Given the description of an element on the screen output the (x, y) to click on. 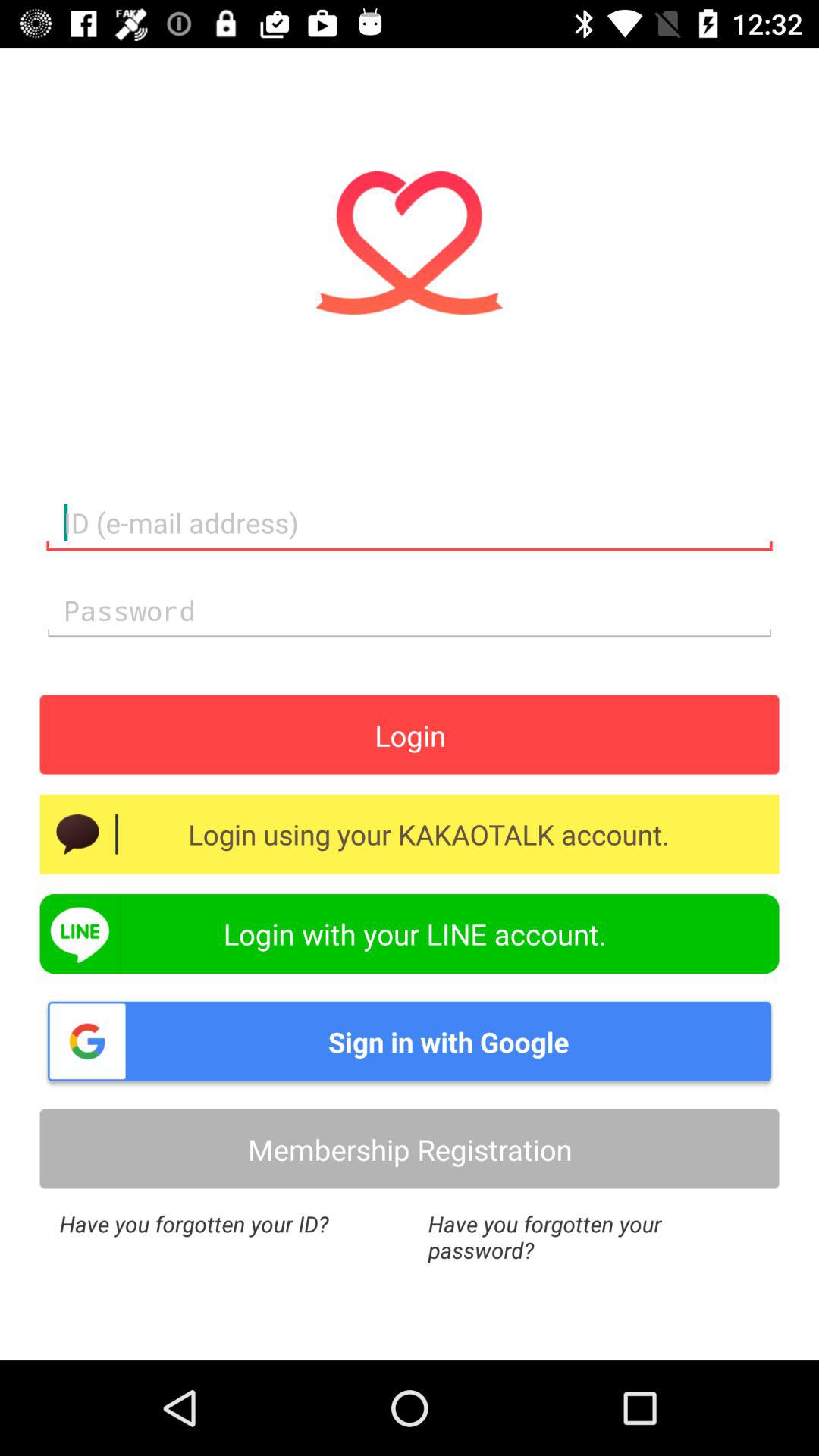
turn off icon above the have you forgotten icon (409, 1148)
